Given the description of an element on the screen output the (x, y) to click on. 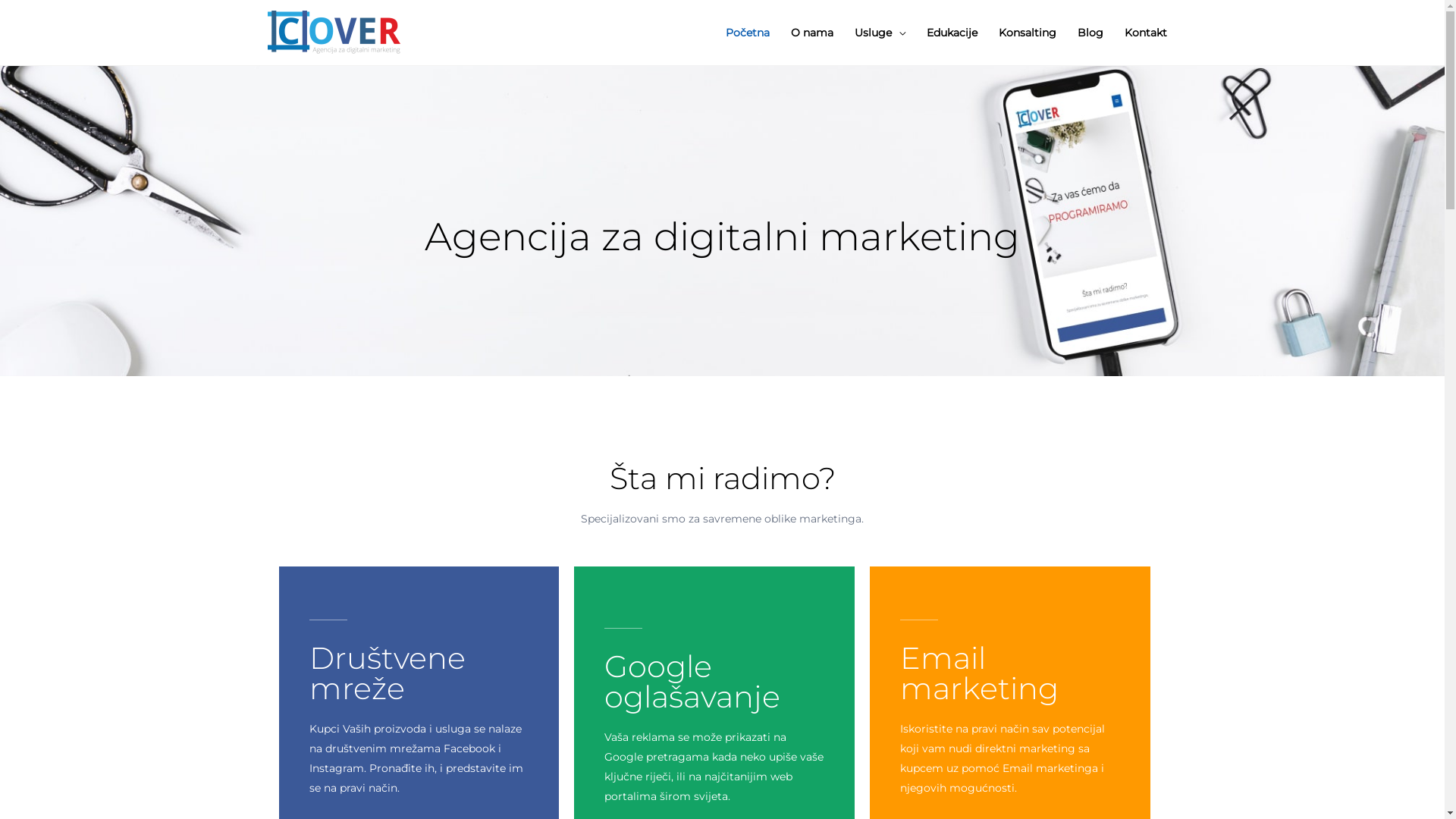
Blog Element type: text (1089, 32)
Kontakt Element type: text (1144, 32)
Edukacije Element type: text (952, 32)
Konsalting Element type: text (1026, 32)
O nama Element type: text (811, 32)
Usluge Element type: text (879, 32)
